Given the description of an element on the screen output the (x, y) to click on. 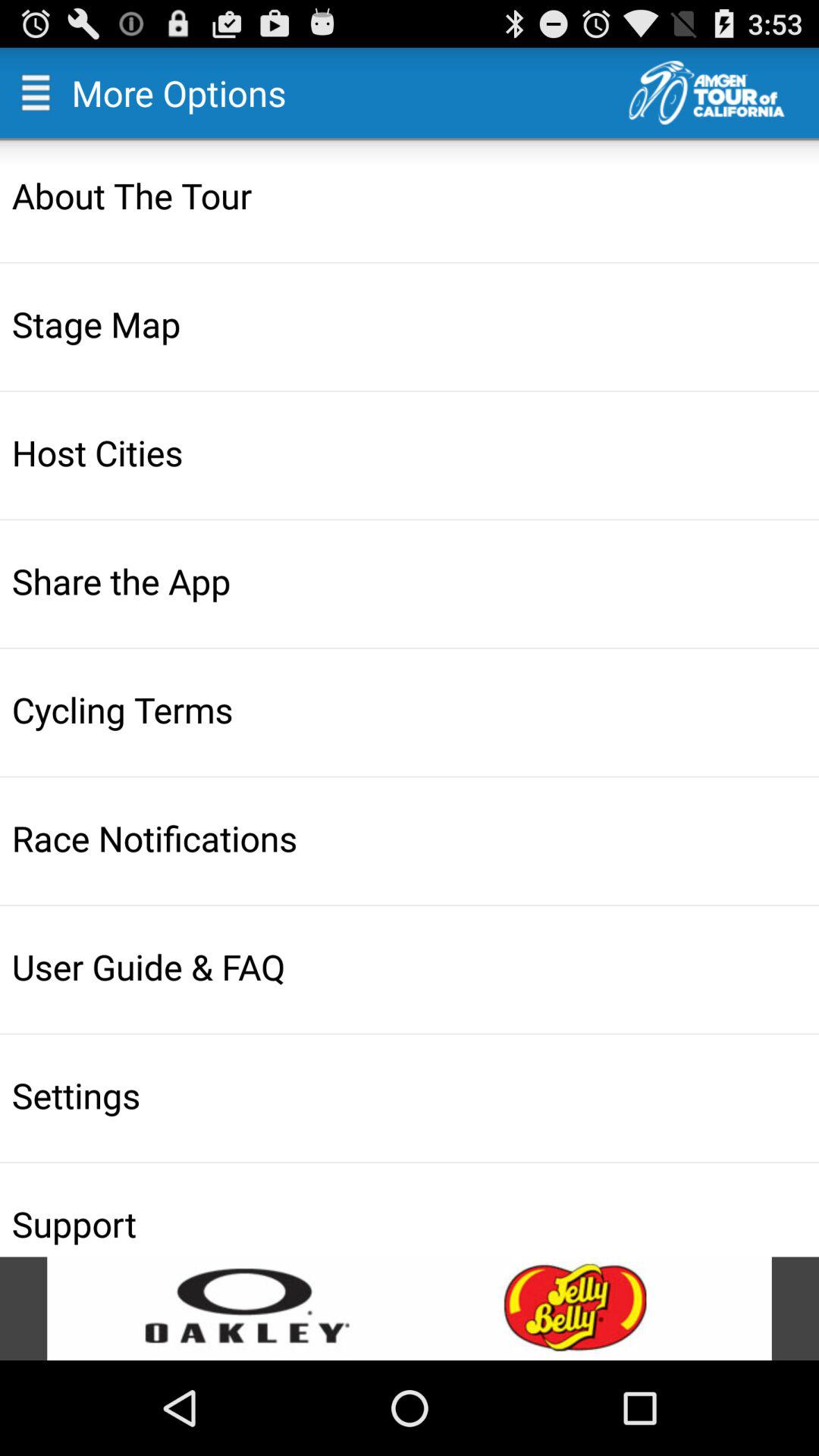
turn off icon above race notifications item (411, 709)
